Given the description of an element on the screen output the (x, y) to click on. 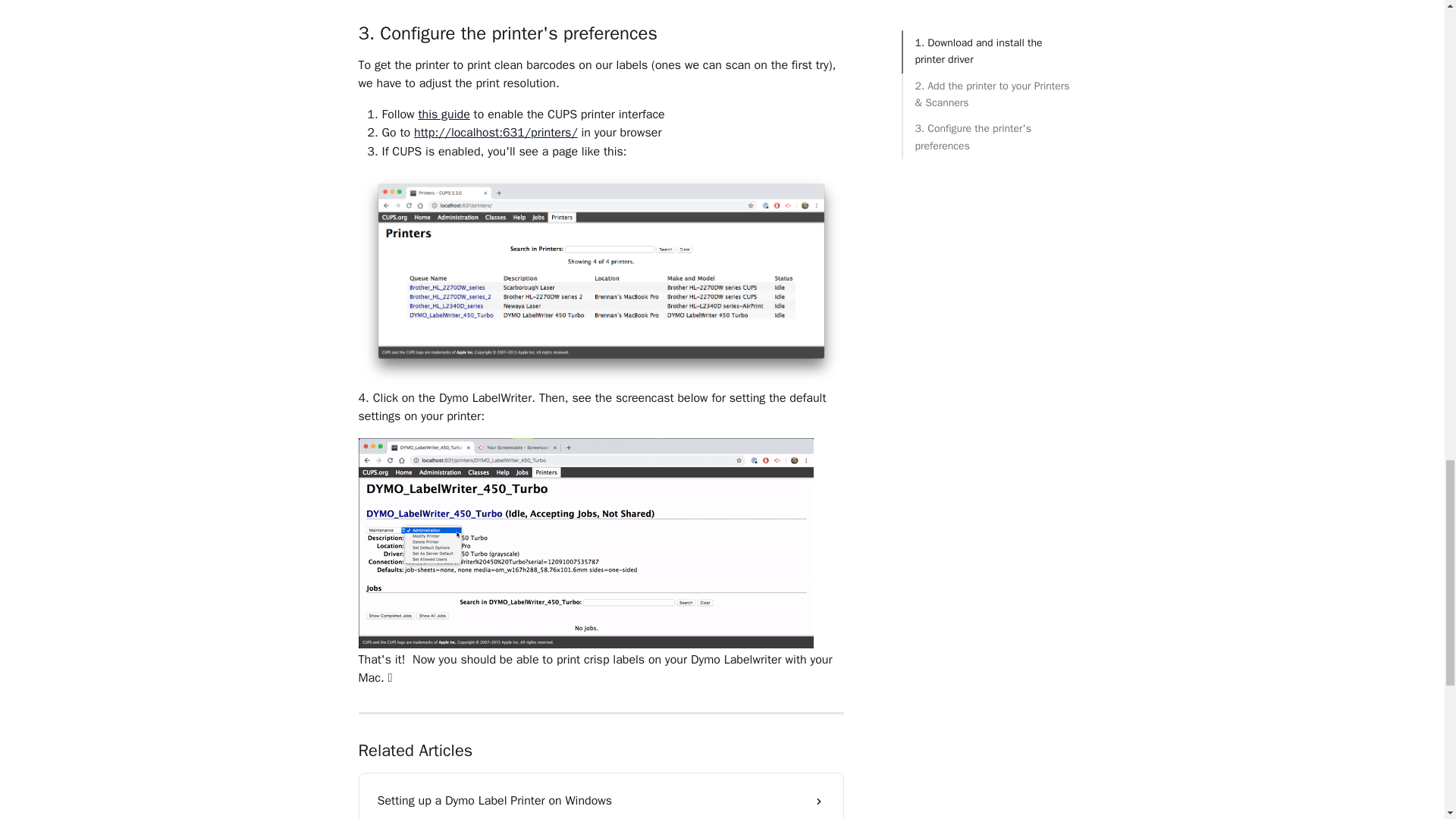
Setting up a Dymo Label Printer on Windows (601, 800)
this guide (442, 114)
